Given the description of an element on the screen output the (x, y) to click on. 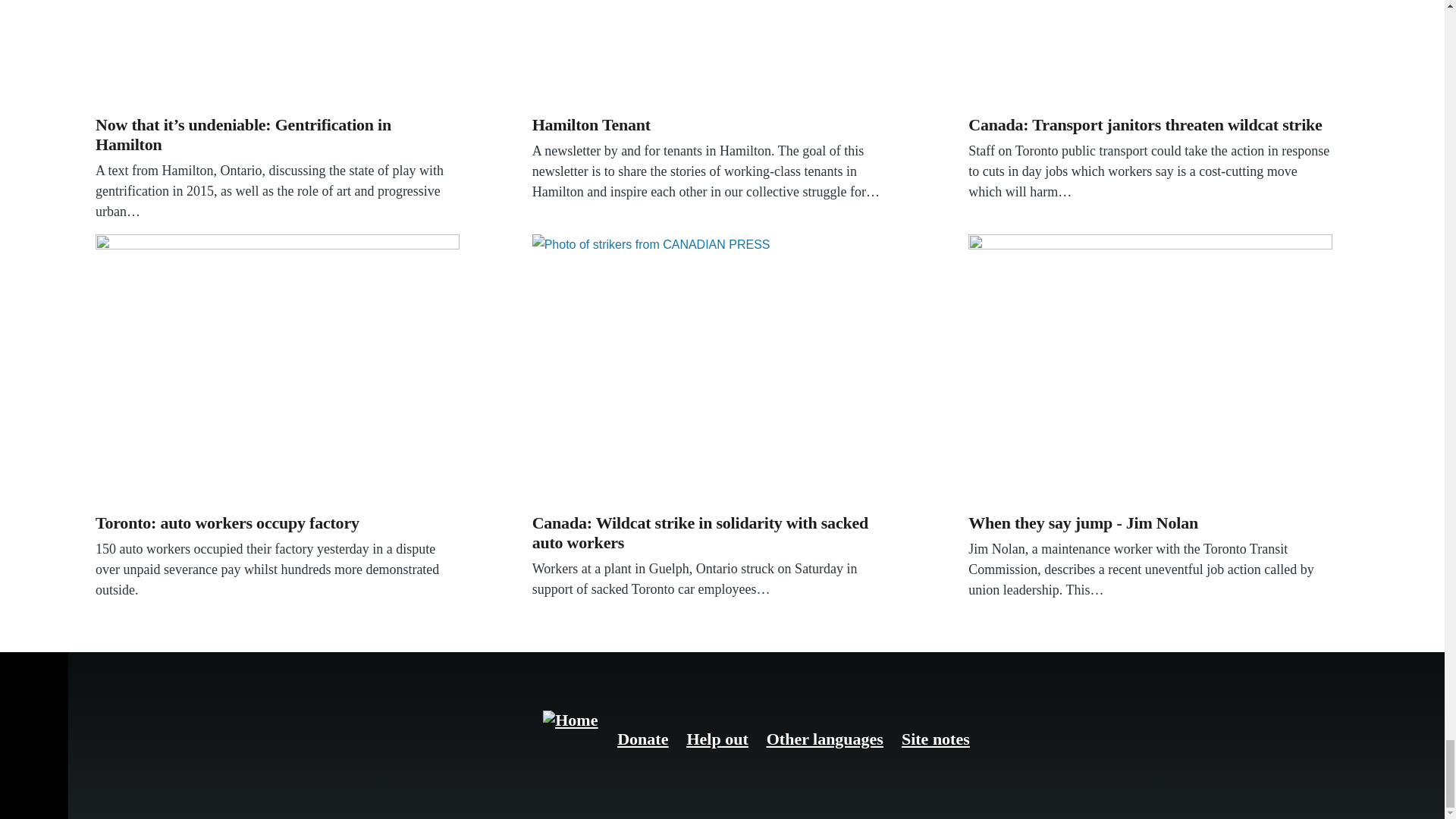
Site notes (935, 738)
Help out (716, 738)
libcom content in languages other than English (825, 738)
Donate (642, 738)
Photo of strikers from CANADIAN PRESS (714, 370)
Other languages (825, 738)
